Given the description of an element on the screen output the (x, y) to click on. 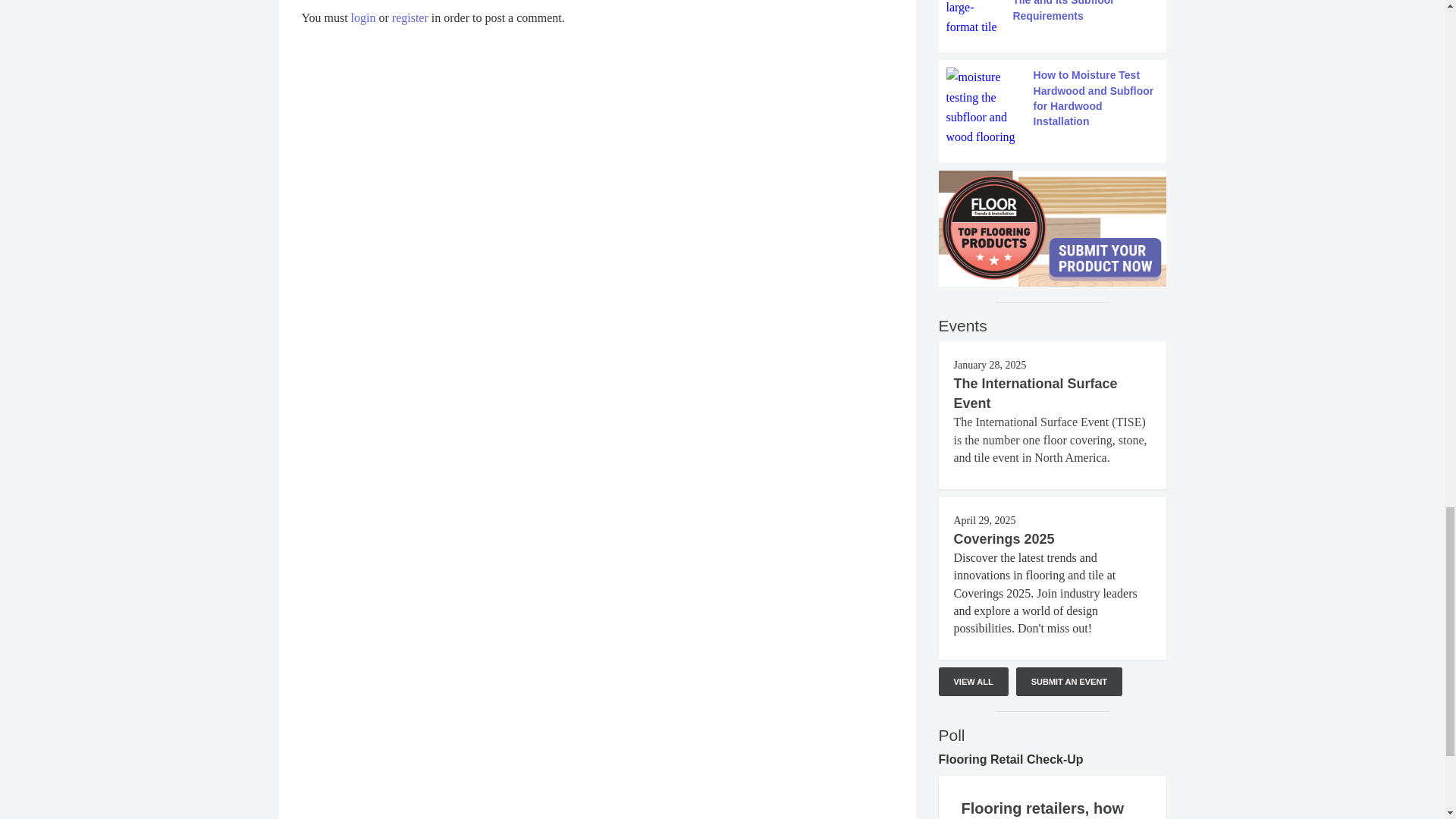
The International Surface Event (1035, 393)
Coverings 2025 (1003, 539)
